Given the description of an element on the screen output the (x, y) to click on. 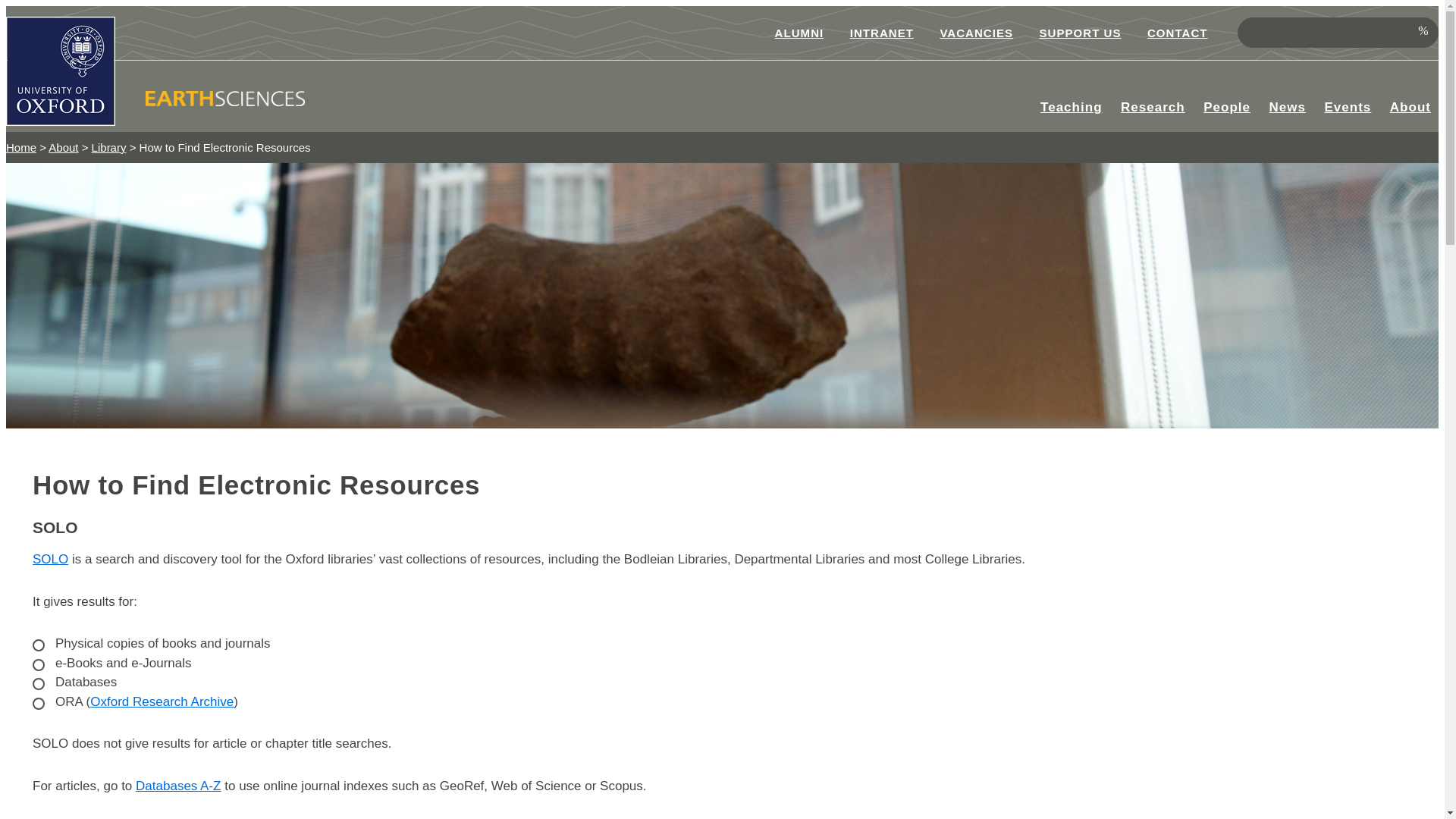
Research (1152, 107)
CONTACT (1177, 33)
ALUMNI (798, 33)
INTRANET (881, 33)
Teaching (1070, 107)
VACANCIES (976, 33)
SUPPORT US (1079, 33)
